Given the description of an element on the screen output the (x, y) to click on. 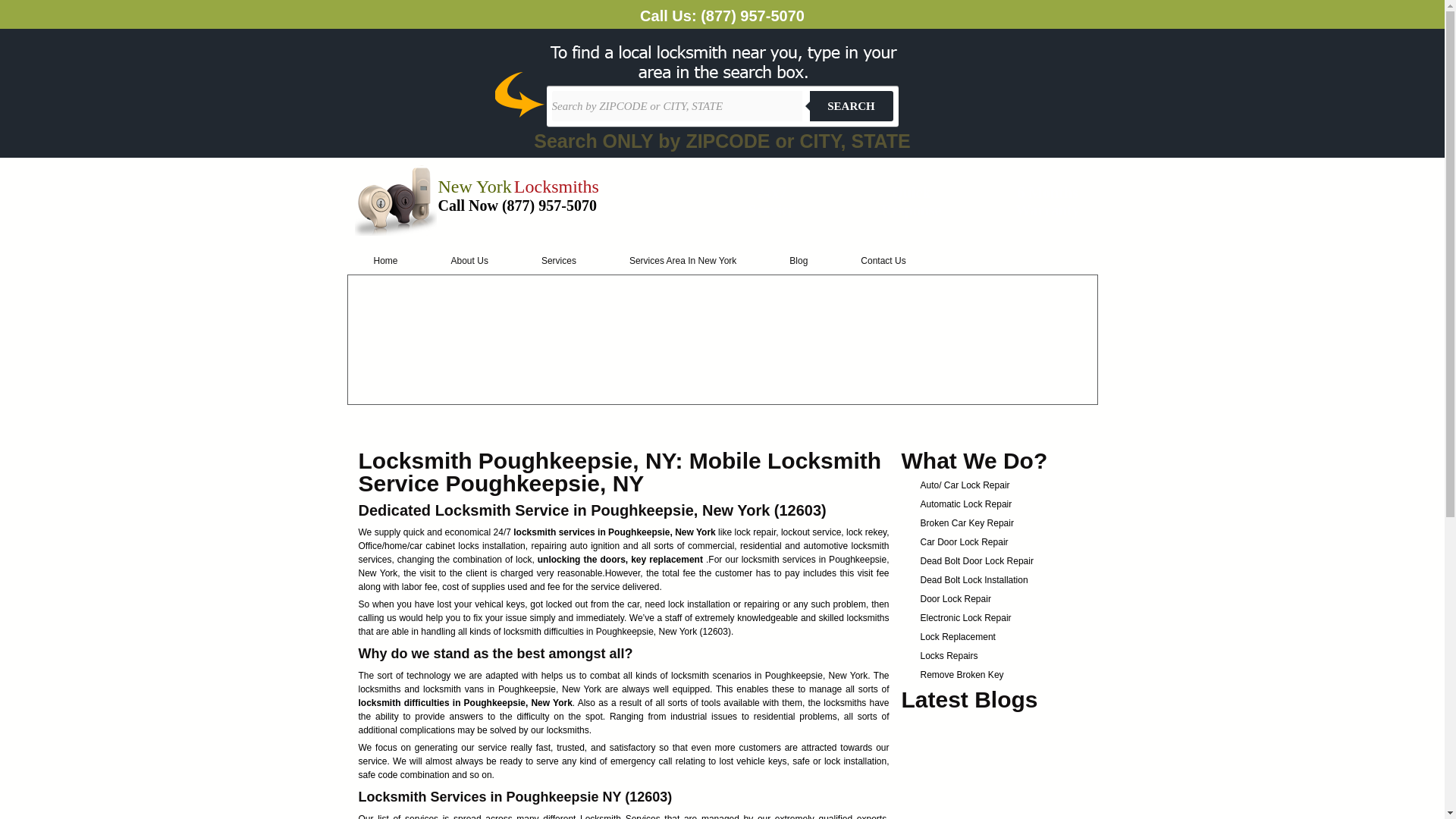
New York Locksmiths (518, 189)
Services (558, 260)
Blog (798, 260)
Contact Us (882, 260)
About Us (470, 260)
Home (386, 260)
Services Area In New York (682, 260)
SEARCH (851, 105)
